Given the description of an element on the screen output the (x, y) to click on. 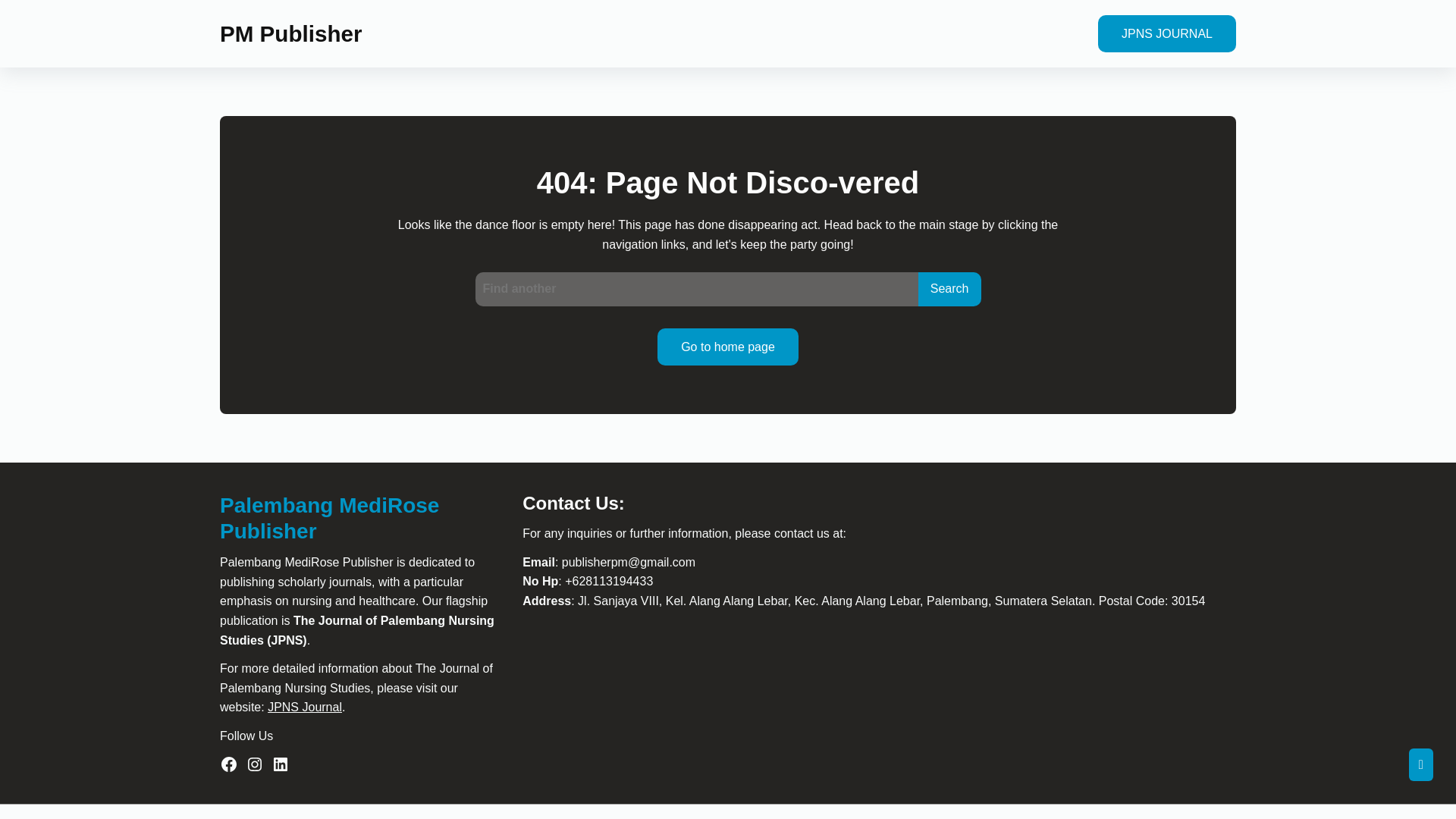
Go to home page (722, 346)
JPNS JOURNAL (1161, 33)
PM Publisher (284, 33)
Search (943, 288)
